Given the description of an element on the screen output the (x, y) to click on. 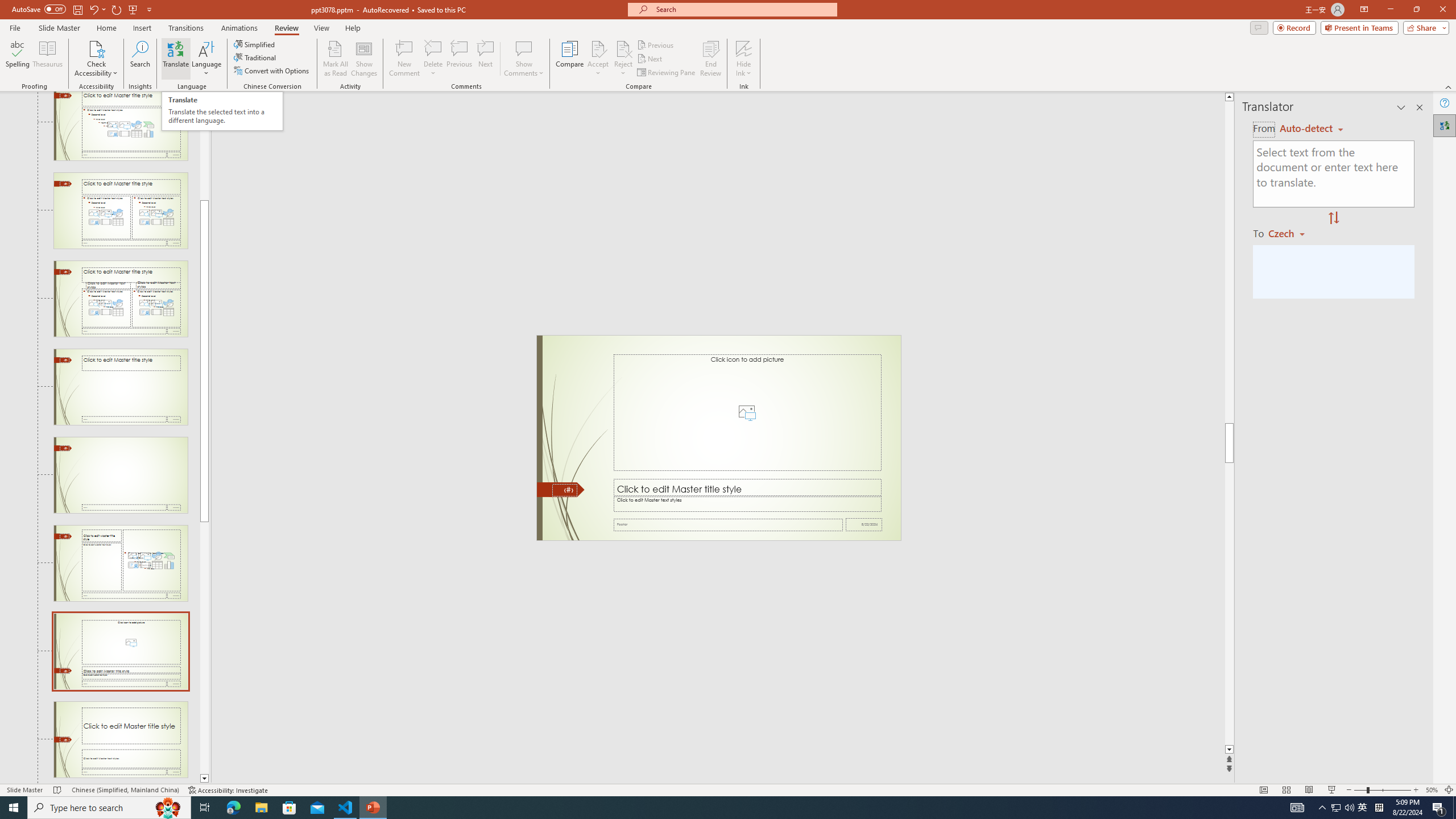
Czech (1291, 232)
Slide Blank Layout: used by no slides (120, 474)
Swap "from" and "to" languages. (1333, 218)
TextBox (746, 503)
Pictures (746, 411)
Reviewing Pane (666, 72)
Slide Number (563, 490)
